Given the description of an element on the screen output the (x, y) to click on. 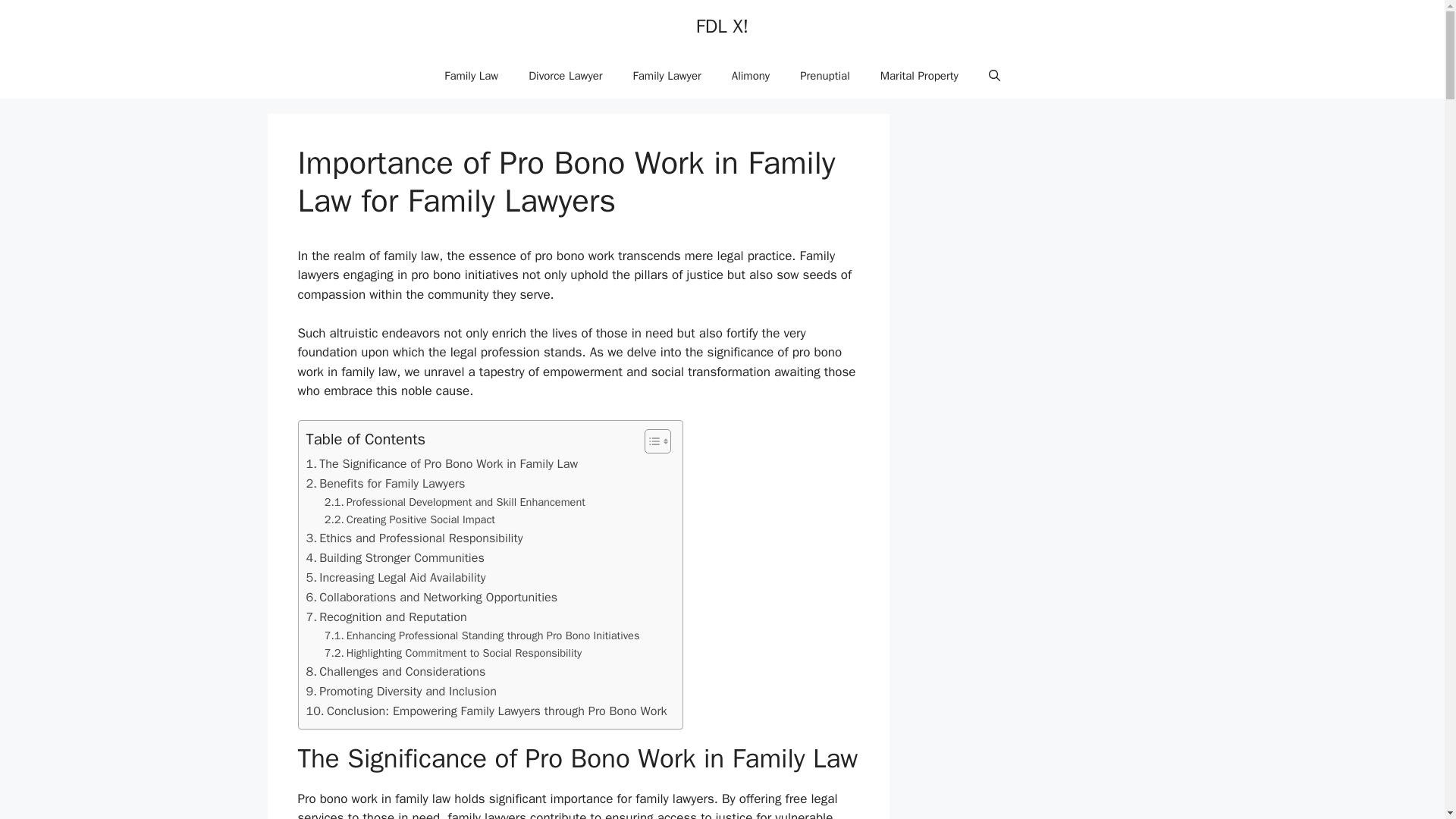
Family Law (471, 75)
Highlighting Commitment to Social Responsibility (453, 652)
Recognition and Reputation (386, 617)
Conclusion: Empowering Family Lawyers through Pro Bono Work (485, 711)
Divorce Lawyer (565, 75)
Enhancing Professional Standing through Pro Bono Initiatives (482, 635)
Ethics and Professional Responsibility (413, 537)
Prenuptial (824, 75)
Marital Property (919, 75)
Benefits for Family Lawyers (385, 483)
